Given the description of an element on the screen output the (x, y) to click on. 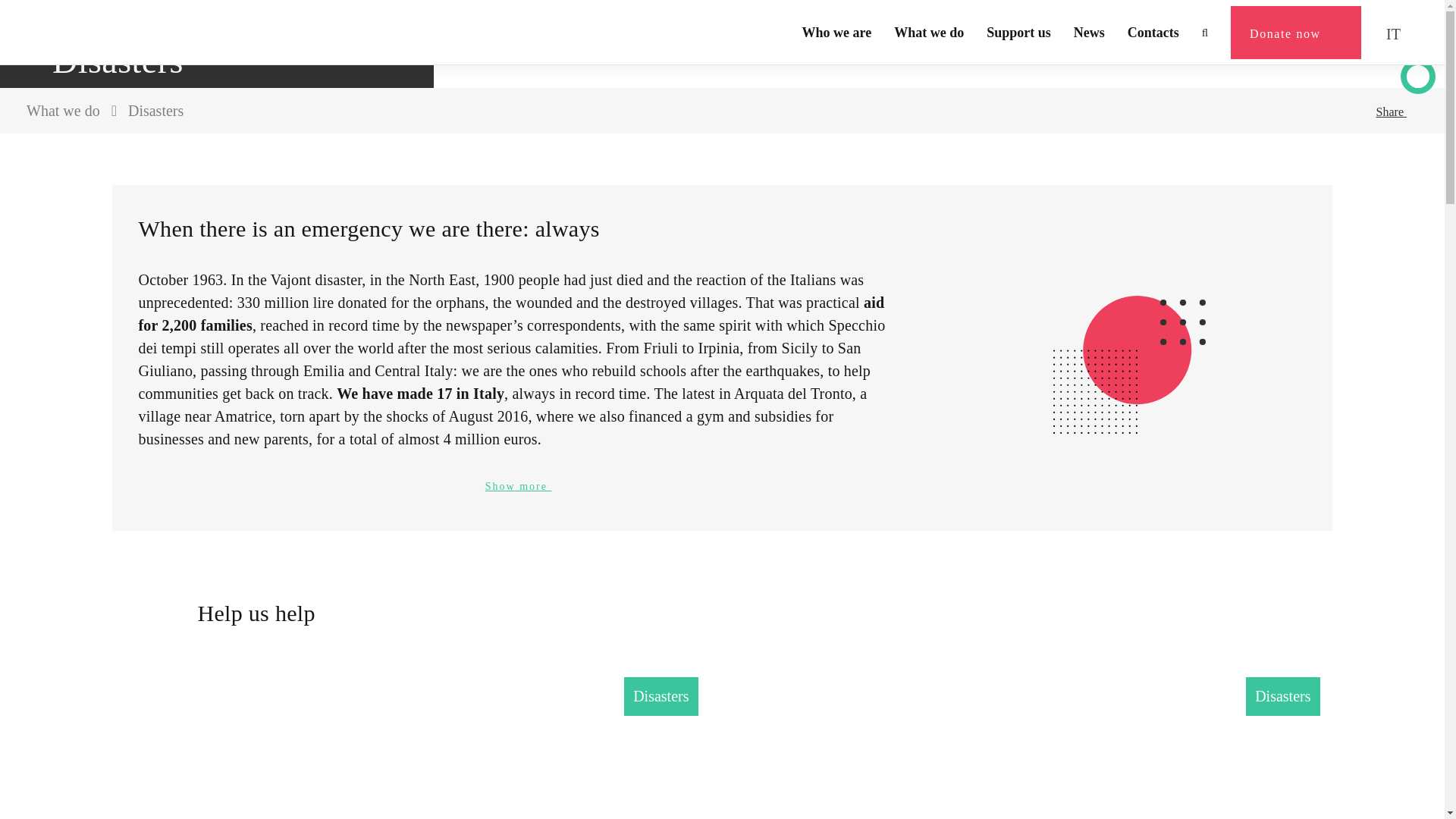
Donate now (1295, 31)
What we do (928, 32)
News (1089, 32)
What we do (928, 32)
Contacts (1153, 32)
Who we are (836, 32)
Who we are (836, 32)
Support us (1018, 32)
